Given the description of an element on the screen output the (x, y) to click on. 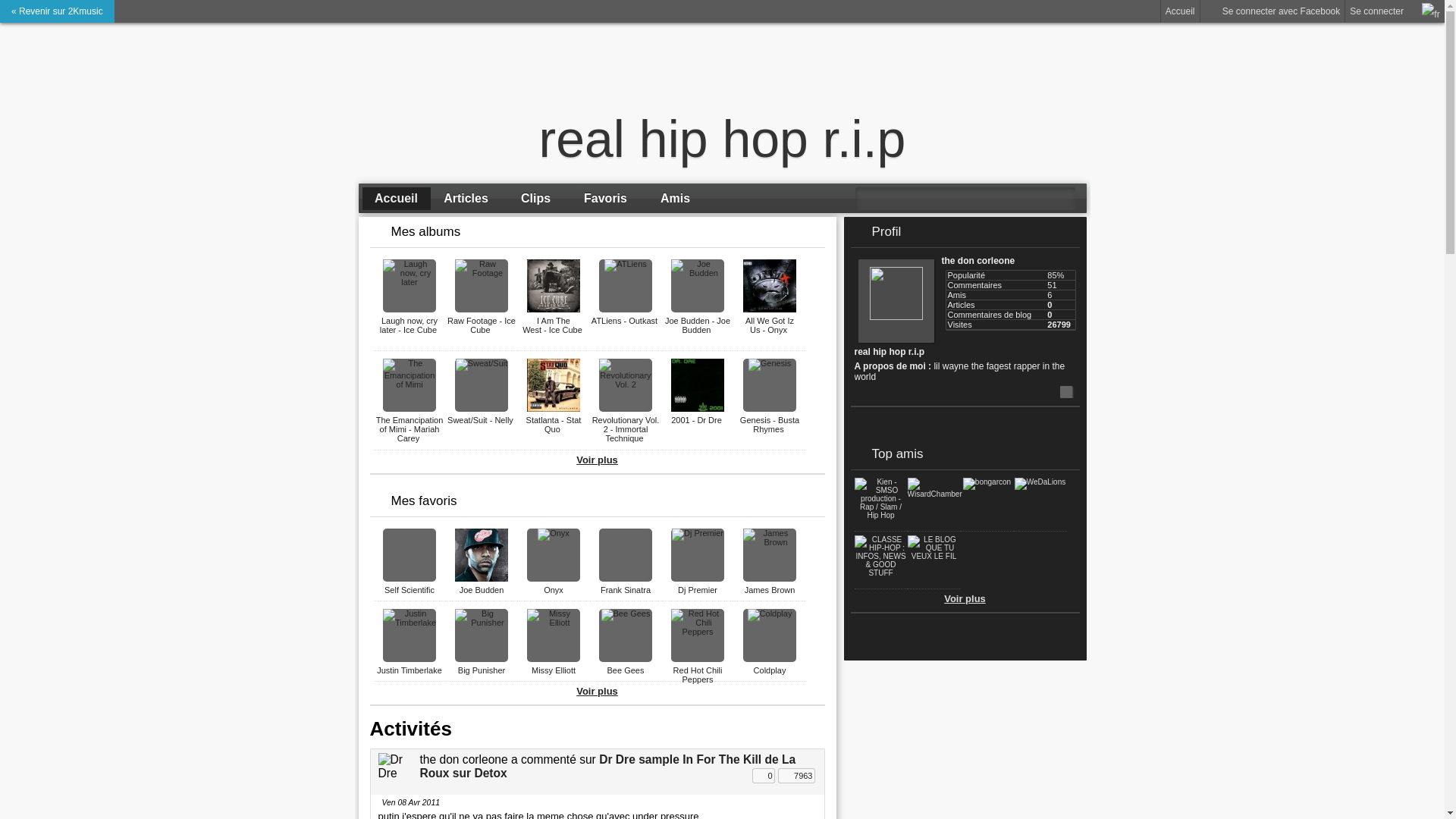
Missy Elliott Element type: text (553, 669)
Dr Dre sample In For The Kill de La Roux sur Detox Element type: text (608, 766)
Joe Budden - Joe Budden  Element type: text (697, 325)
bongarcon Element type: hover (986, 481)
Bee Gees Element type: text (625, 669)
I Am The West - Ice Cube  Element type: text (553, 325)
Onyx Element type: text (553, 589)
Kien - SMSO production - Rap / Slam / Hip Hop Element type: hover (879, 515)
All We Got Iz Us - Onyx  Element type: text (769, 325)
Self Scientific Element type: text (409, 589)
real hip hop r.i.p Element type: text (722, 138)
Amis Element type: text (675, 198)
Clips Element type: text (536, 198)
Accueil Element type: text (396, 198)
Coldplay Element type: text (769, 669)
Genesis - Busta Rhymes  Element type: text (769, 424)
WisardChamber Element type: hover (933, 493)
WeDaLions Element type: hover (1040, 481)
Frank Sinatra Element type: text (625, 589)
Accueil Element type: text (1180, 11)
Laugh now, cry later - Ice Cube  Element type: text (409, 325)
Voir plus Element type: text (597, 690)
Revolutionary Vol. 2 - Immortal Technique  Element type: text (625, 428)
0 Element type: text (763, 775)
2001 - Dr Dre  Element type: text (697, 419)
Voir plus Element type: text (597, 459)
Raw Footage - Ice Cube  Element type: text (481, 325)
ATLiens - Outkast  Element type: text (625, 320)
Dj Premier Element type: text (697, 589)
Sweat/Suit - Nelly  Element type: text (481, 419)
Joe Budden Element type: text (481, 589)
Statlanta - Stat Quo  Element type: text (553, 424)
James Brown Element type: text (769, 589)
Red Hot Chili Peppers Element type: text (697, 674)
 Se connecter avec Facebook Element type: text (1272, 11)
Big Punisher Element type: text (481, 669)
Articles Element type: text (466, 198)
Voir plus Element type: text (964, 598)
Justin Timberlake Element type: text (409, 669)
The Emancipation of Mimi - Mariah Carey  Element type: text (409, 428)
  Element type: text (867, 639)
LE BLOG QUE TU VEUX LE FIL Element type: hover (933, 556)
Se connecter Element type: text (1376, 11)
CLASSE HIP-HOP : INFOS, NEWS & GOOD STUFF Element type: hover (879, 572)
Favoris Element type: text (605, 198)
